Given the description of an element on the screen output the (x, y) to click on. 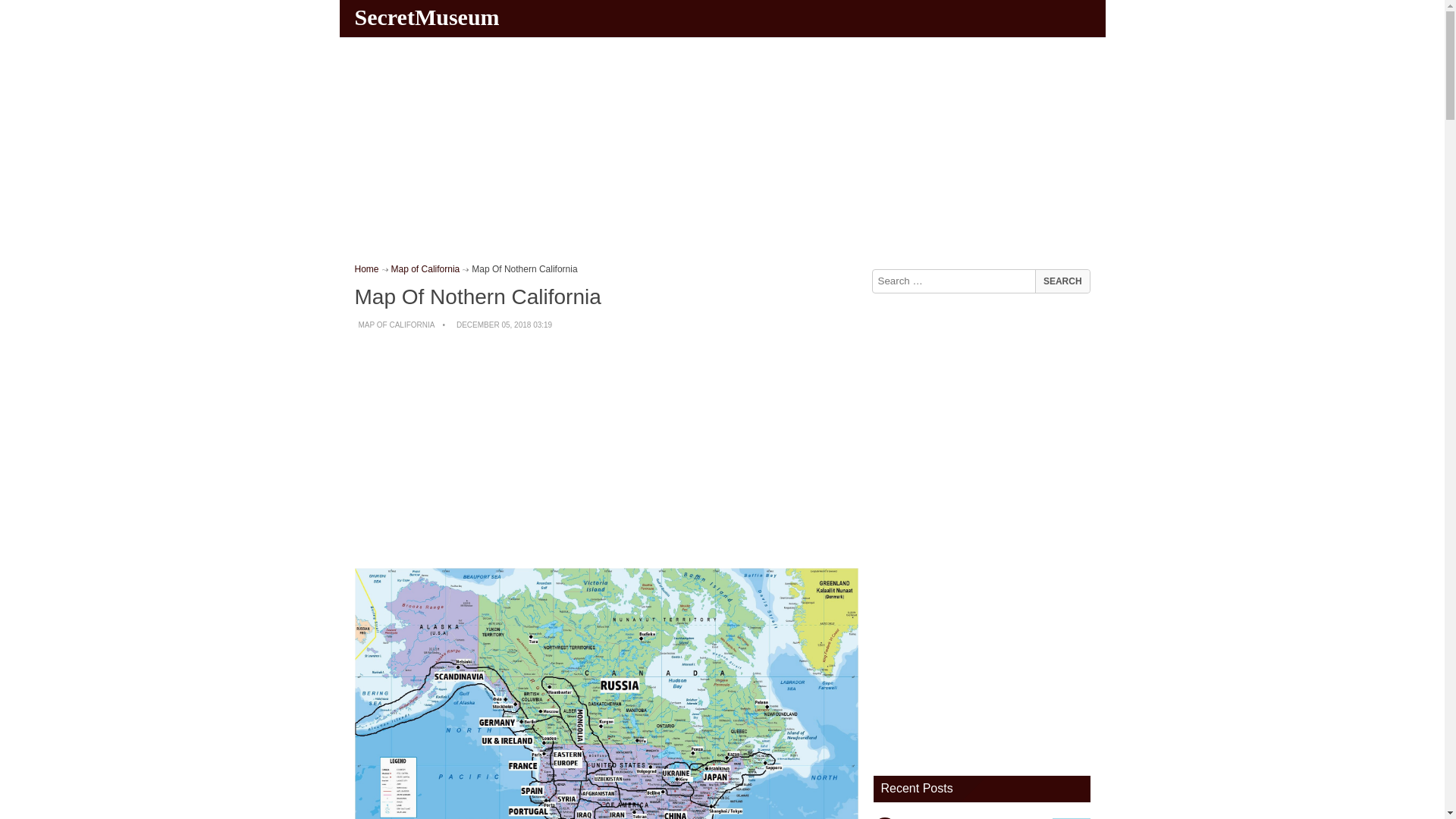
Home (366, 268)
MAP OF CALIFORNIA (395, 325)
Search (1062, 281)
Advertisement (607, 449)
Search (1062, 281)
SecretMuseum (429, 16)
Map of California (425, 268)
